Given the description of an element on the screen output the (x, y) to click on. 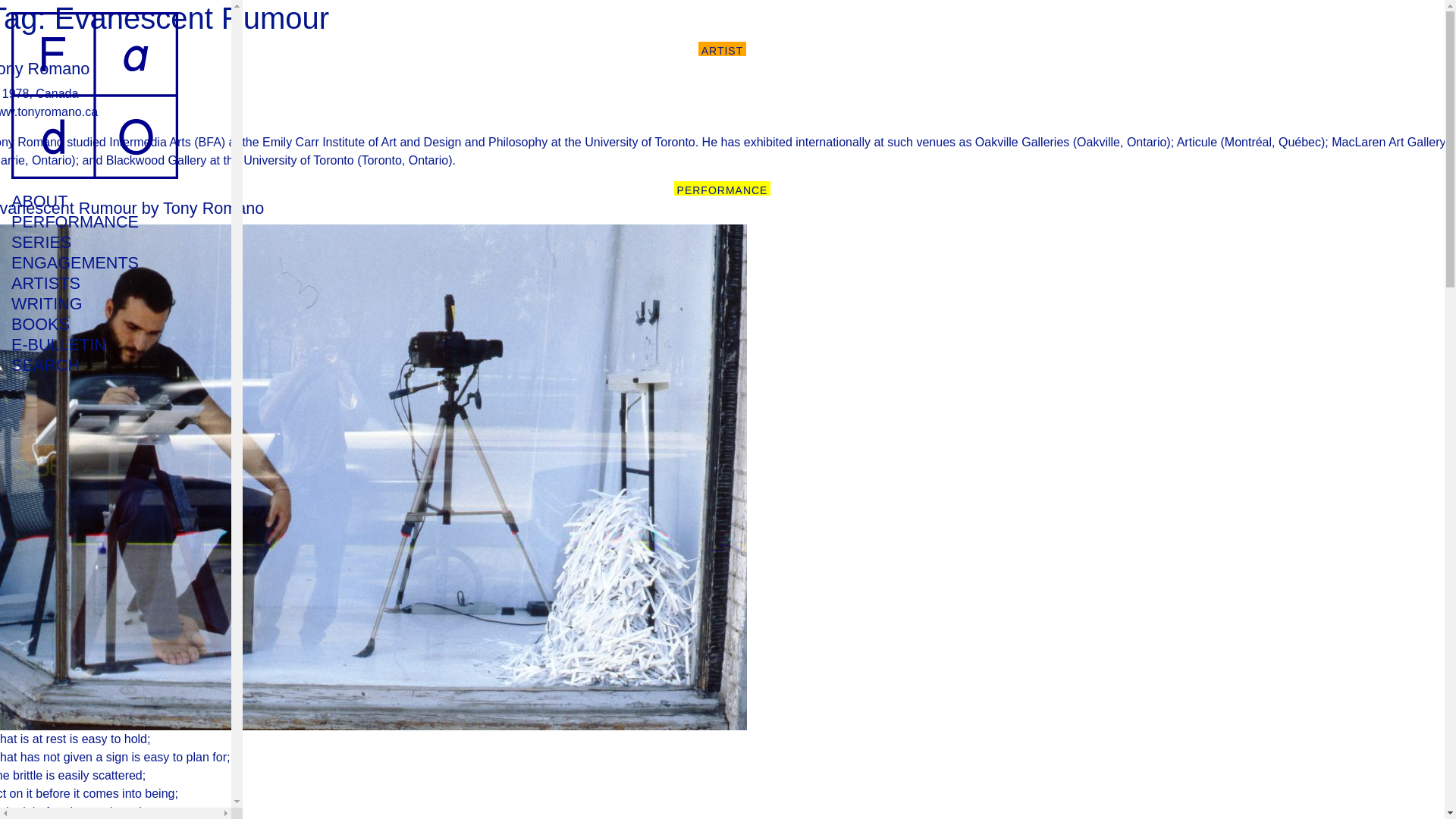
ENGAGEMENTS (94, 262)
Tony Romano (44, 67)
ARTISTS (94, 282)
ABOUT (94, 200)
SERIES (94, 241)
Evanescent Rumour by Tony Romano (131, 208)
PERFORMANCE (94, 221)
www.tonyromano.ca (48, 111)
SEARCH (94, 364)
WRITING (94, 303)
